Given the description of an element on the screen output the (x, y) to click on. 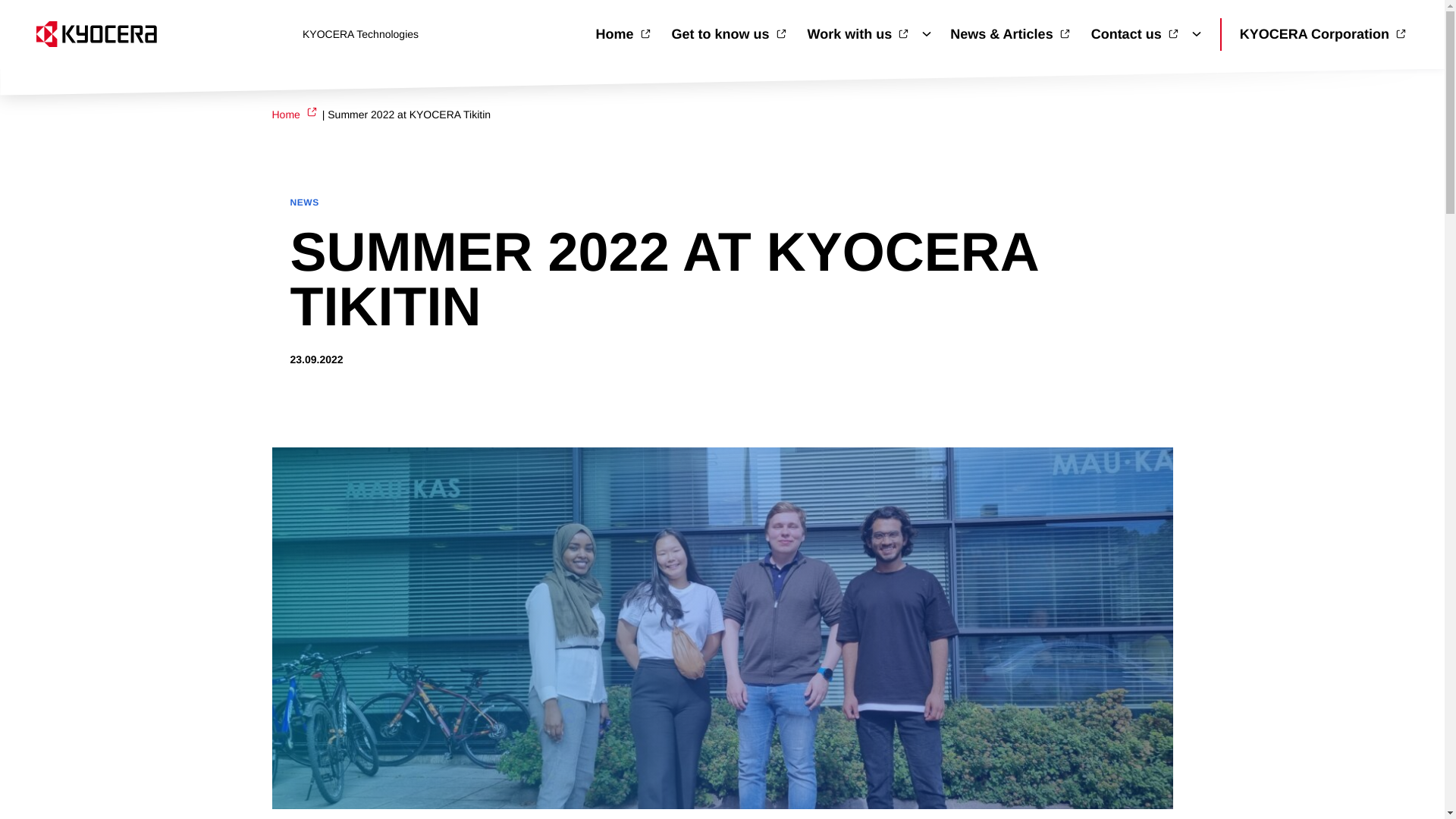
Kyocera Technologies (159, 33)
Home (294, 114)
Contact us (1135, 34)
Home (623, 34)
Get to know us (730, 34)
Work with us (859, 34)
KYOCERA Corporation (1323, 34)
